Given the description of an element on the screen output the (x, y) to click on. 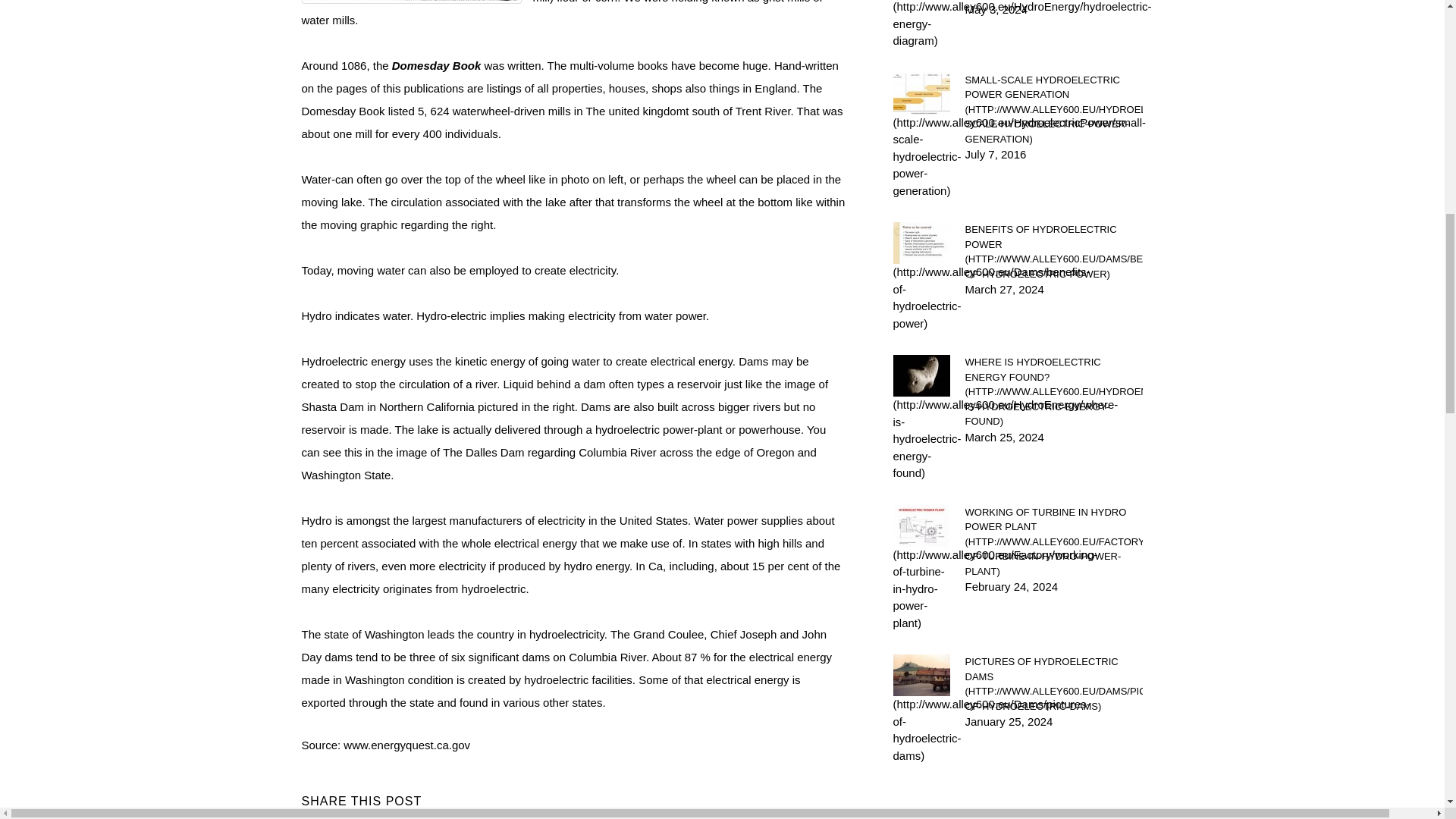
SMALL-SCALE HYDROELECTRIC POWER GENERATION (1052, 109)
